Given the description of an element on the screen output the (x, y) to click on. 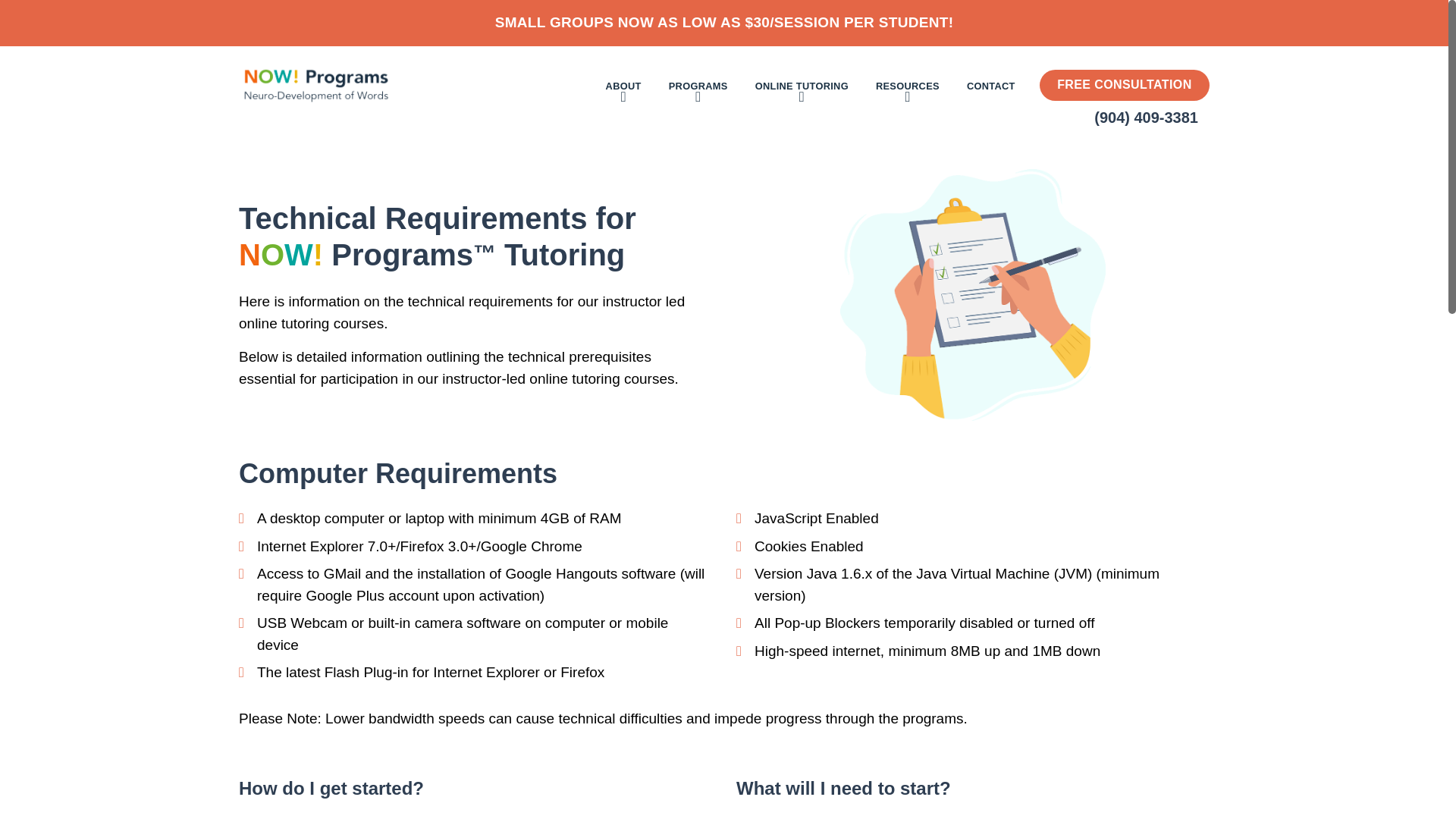
ONLINE TUTORING (801, 85)
ABOUT (623, 85)
FREE CONSULTATION (1124, 84)
RESOURCES (907, 85)
PROGRAMS (698, 85)
CONTACT (990, 85)
